Given the description of an element on the screen output the (x, y) to click on. 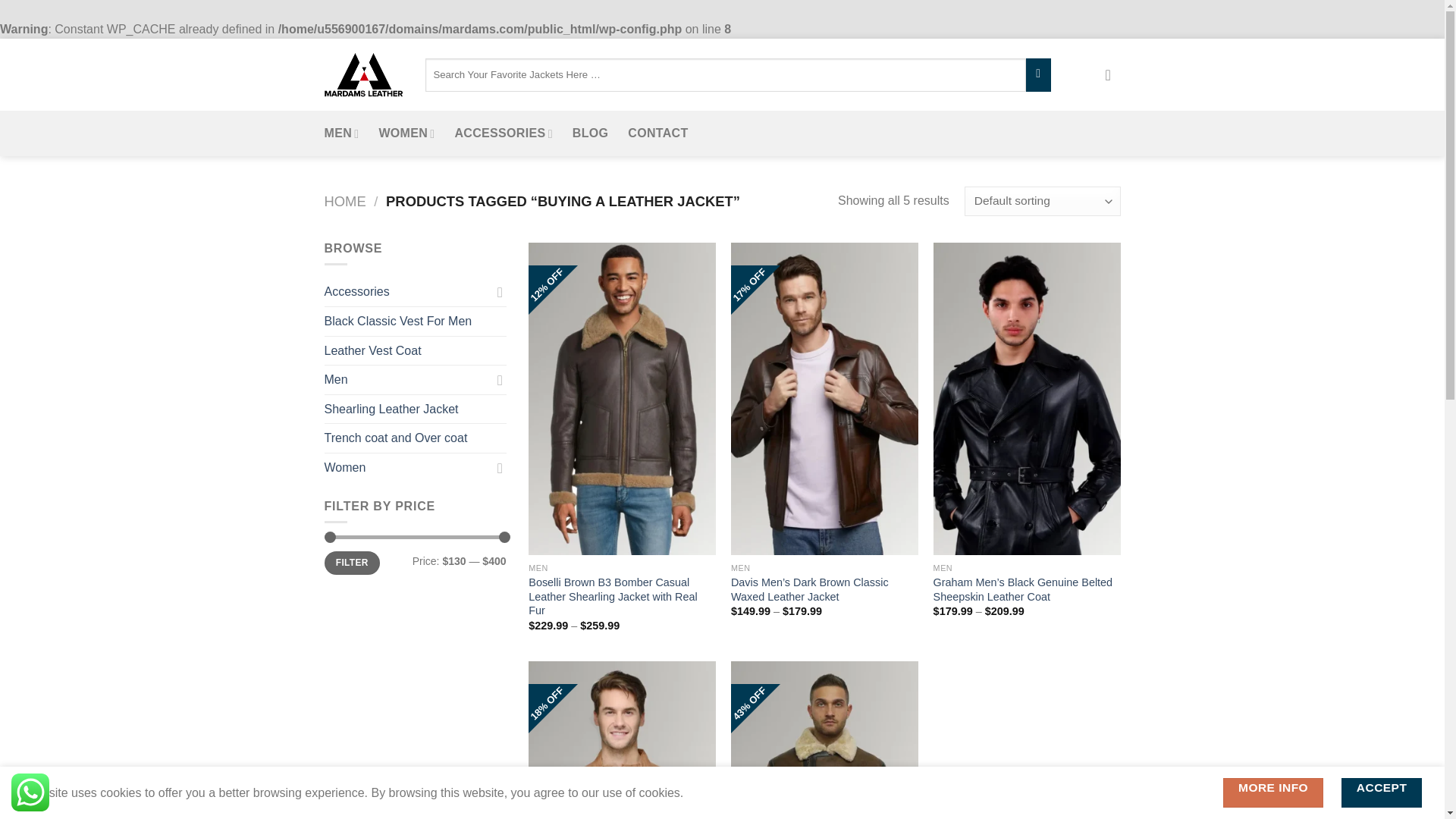
Leather Vest Coat (415, 350)
Men (407, 379)
HOME (345, 201)
CONTACT (657, 133)
Accessories (407, 291)
Women (407, 467)
WOMEN (405, 133)
ACCESSORIES (502, 133)
Shearling Leather Jacket (415, 409)
Trench coat and Over coat (415, 438)
